Given the description of an element on the screen output the (x, y) to click on. 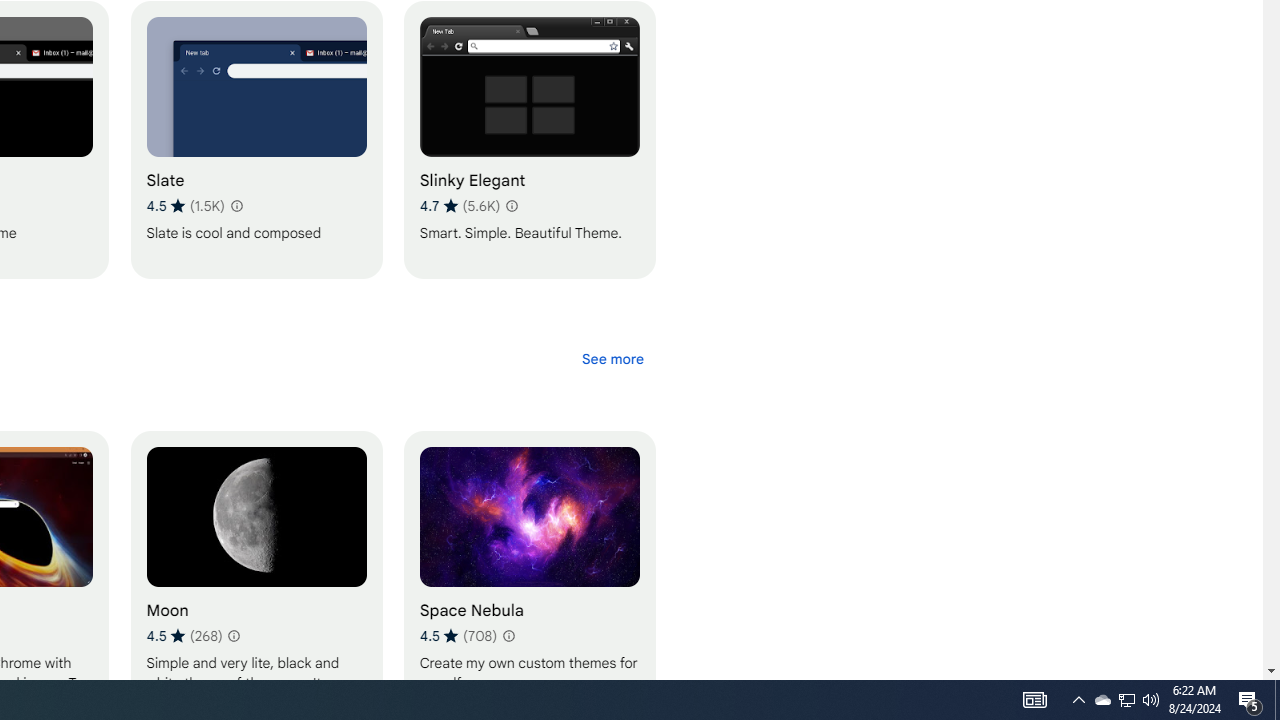
See more of the "Space exploration" collection (612, 358)
Learn more about results and reviews "Moon" (233, 636)
Slinky Elegant (529, 139)
Learn more about results and reviews "Space Nebula" (507, 636)
Learn more about results and reviews "Slate" (235, 205)
Average rating 4.5 out of 5 stars. 1.5K ratings. (185, 205)
Moon (255, 570)
Average rating 4.5 out of 5 stars. 268 ratings. (183, 635)
Slate (255, 139)
Average rating 4.7 out of 5 stars. 5.6K ratings. (459, 205)
Learn more about results and reviews "Slinky Elegant" (511, 205)
Average rating 4.5 out of 5 stars. 708 ratings. (457, 635)
Space Nebula (529, 570)
